Given the description of an element on the screen output the (x, y) to click on. 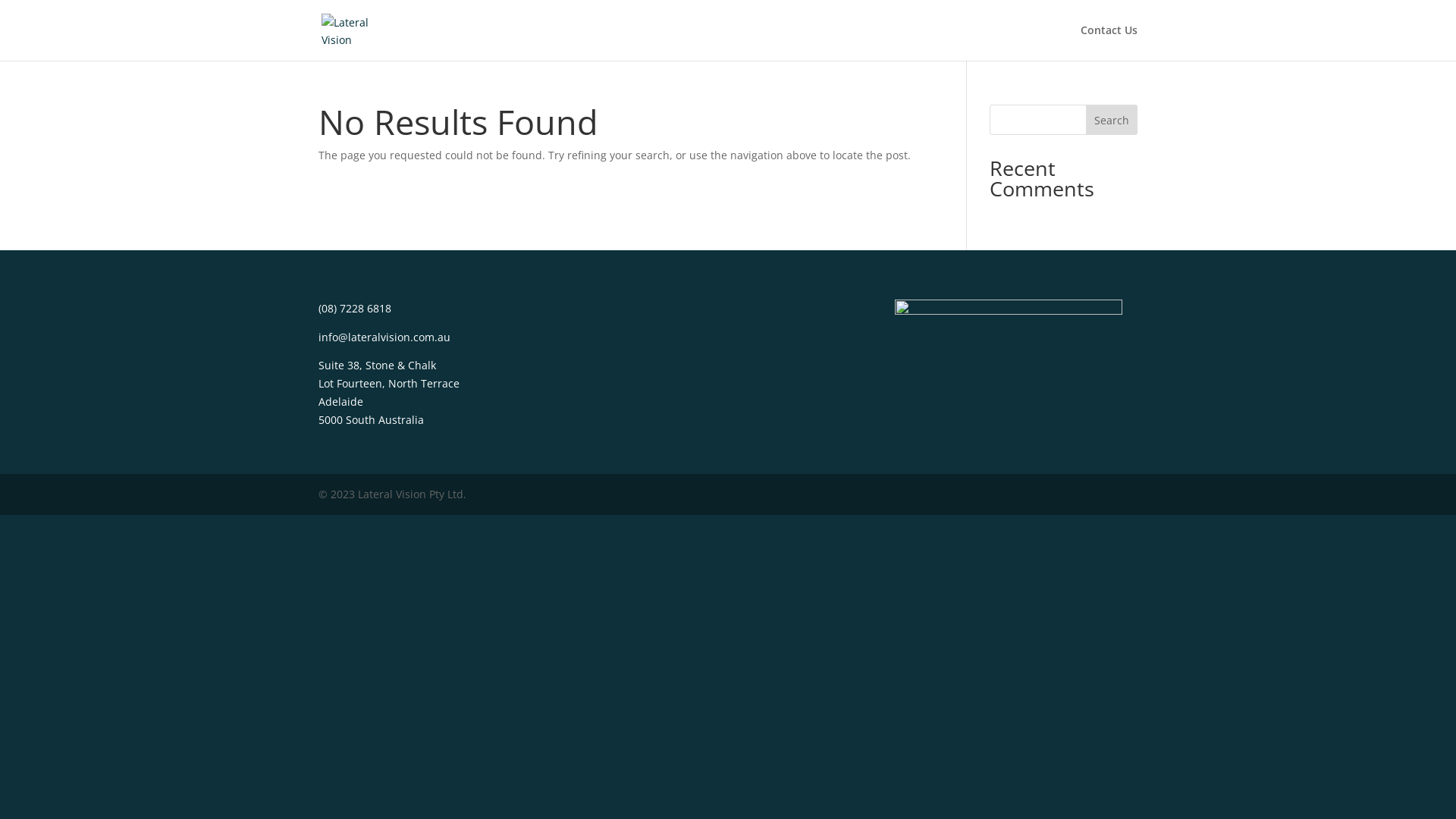
Contact Us Element type: text (1108, 42)
Search Element type: text (1111, 119)
